Given the description of an element on the screen output the (x, y) to click on. 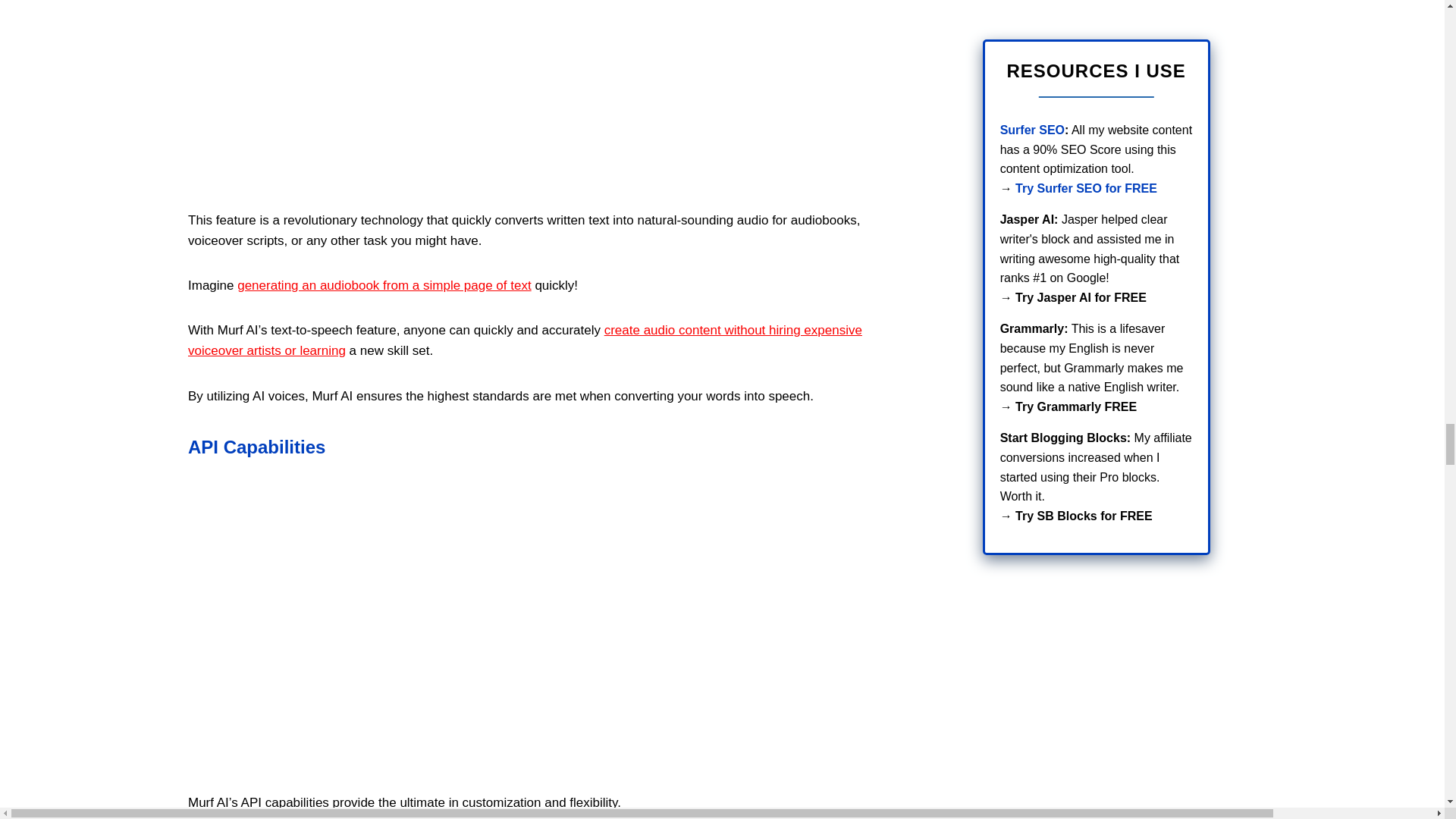
generating an audiobook from a simple page of text (384, 285)
